Given the description of an element on the screen output the (x, y) to click on. 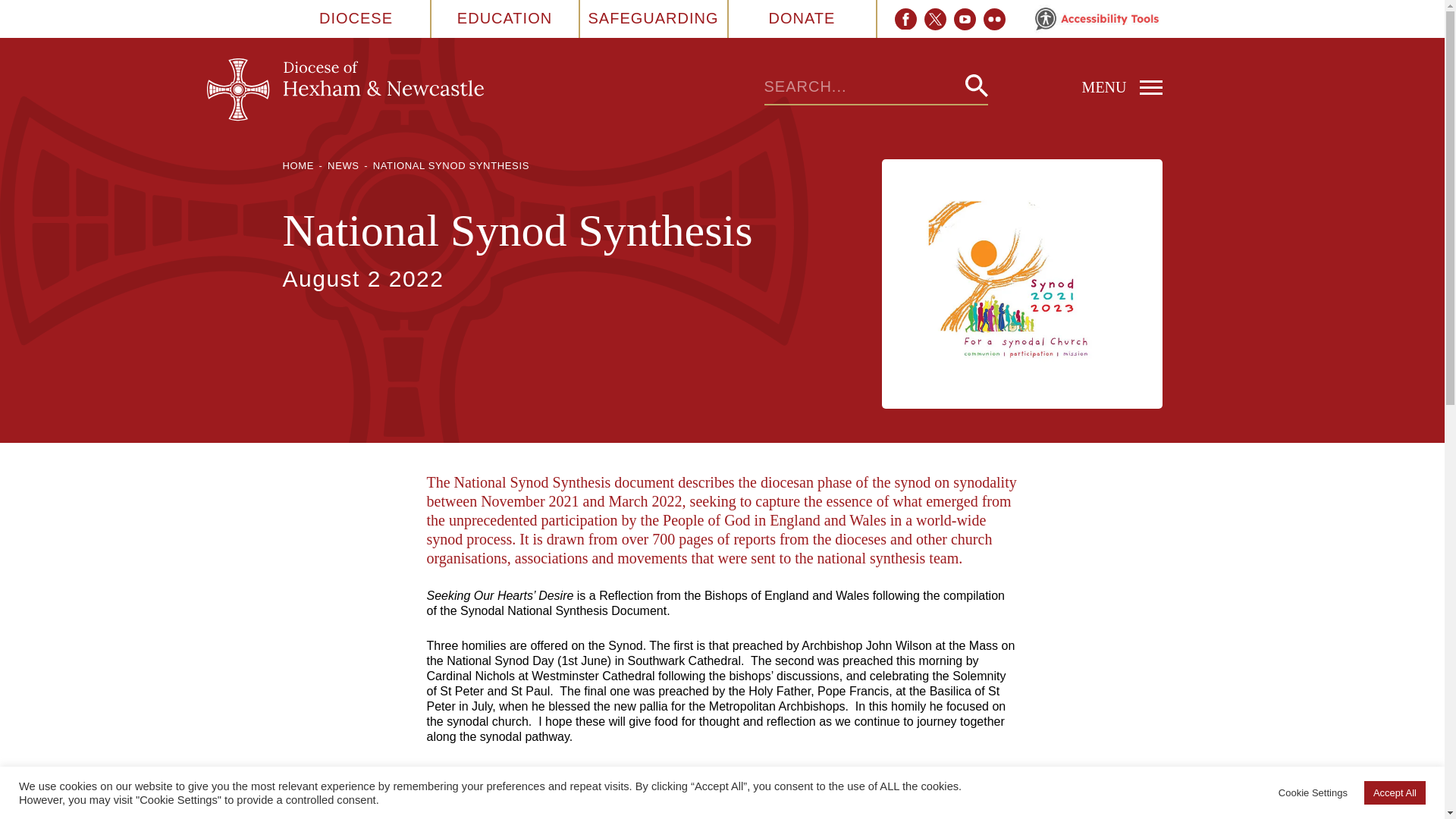
EDUCATION (504, 18)
DIOCESE (355, 18)
SAFEGUARDING (652, 18)
DONATE (801, 18)
MENU (1074, 86)
Go to News. (343, 165)
